Given the description of an element on the screen output the (x, y) to click on. 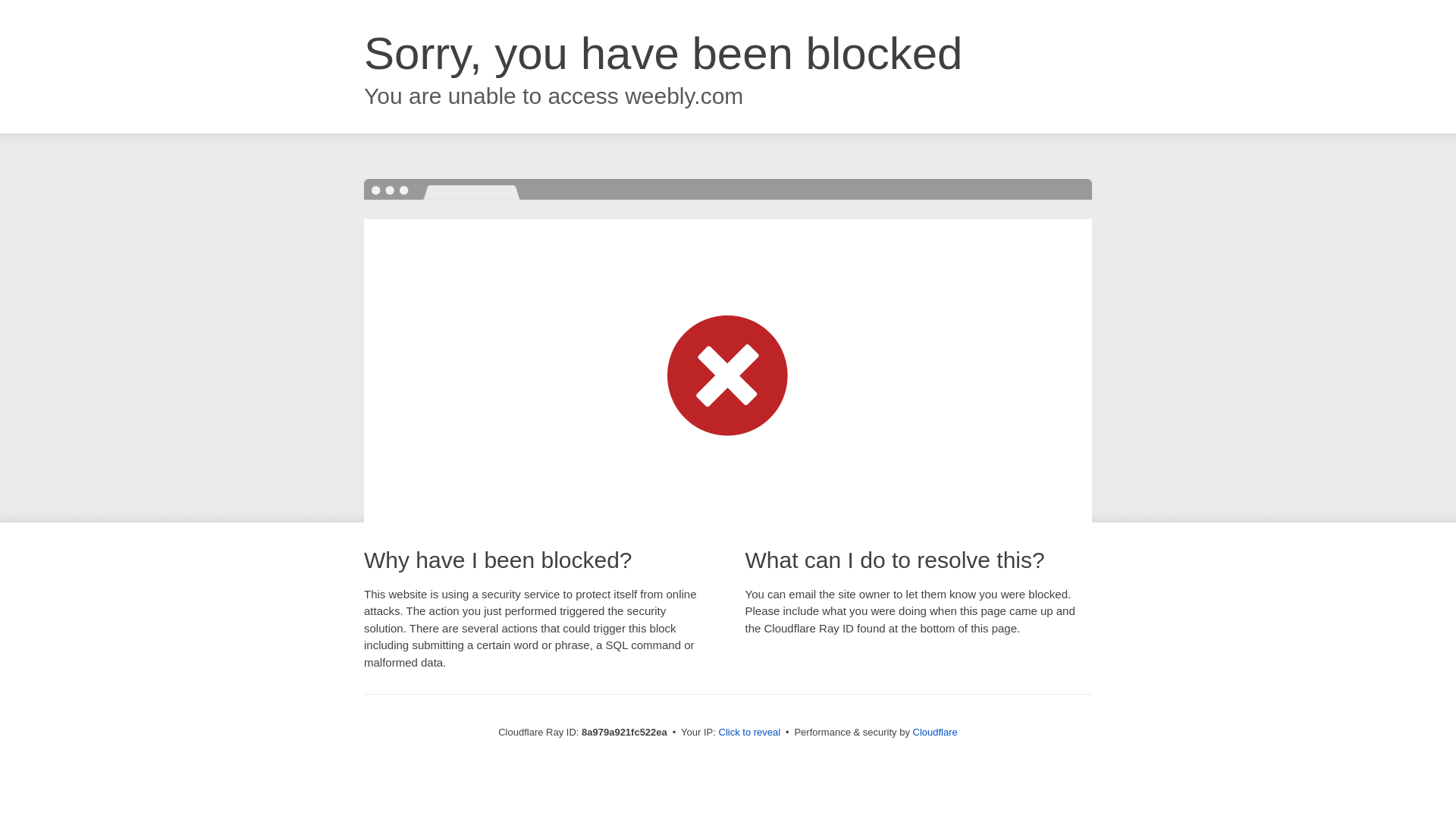
Click to reveal (749, 732)
Cloudflare (935, 731)
